Given the description of an element on the screen output the (x, y) to click on. 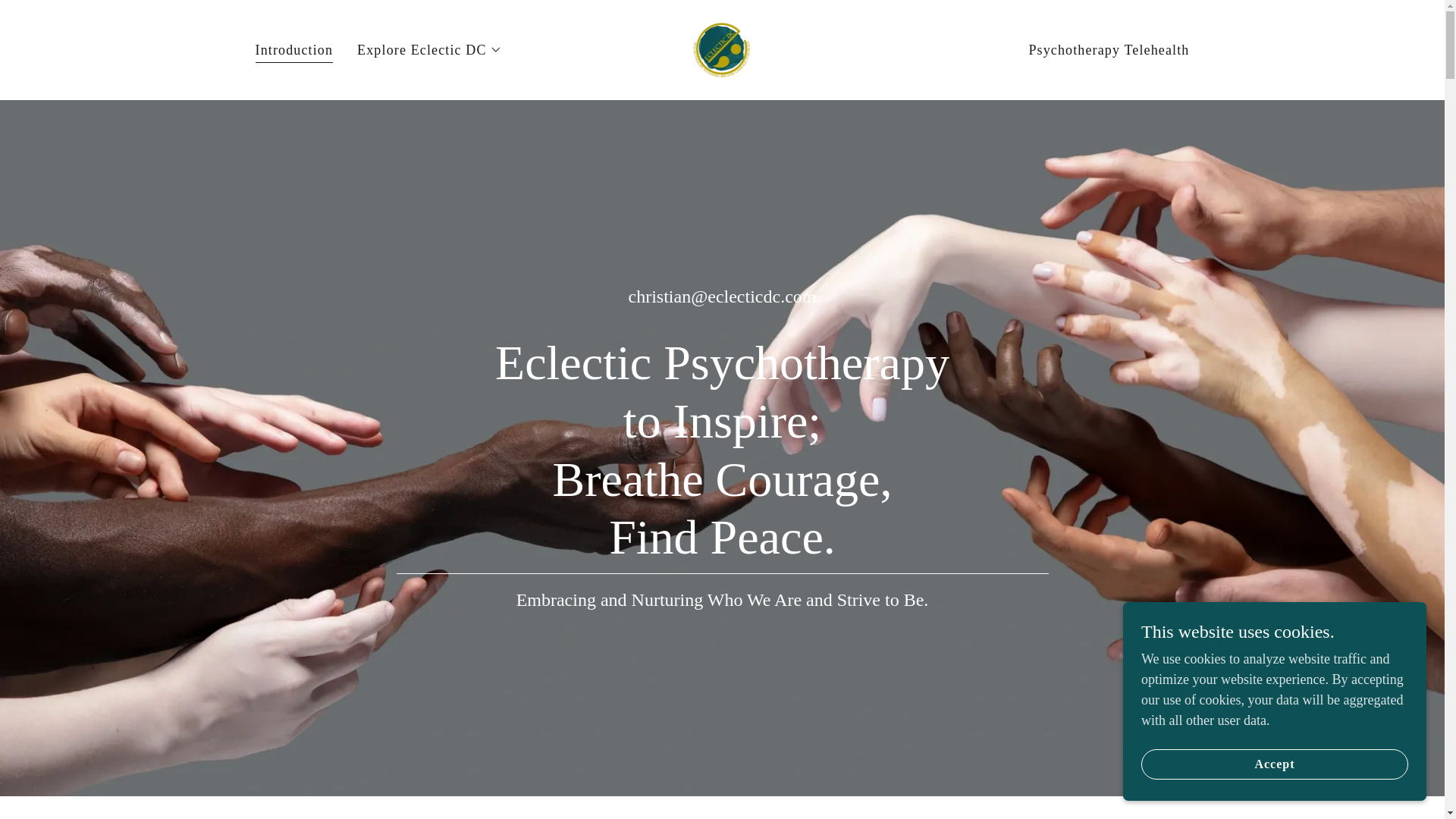
Psychotherapy Telehealth (1108, 49)
Explore Eclectic DC (429, 49)
Eclectic DC (722, 48)
Introduction (293, 51)
